Given the description of an element on the screen output the (x, y) to click on. 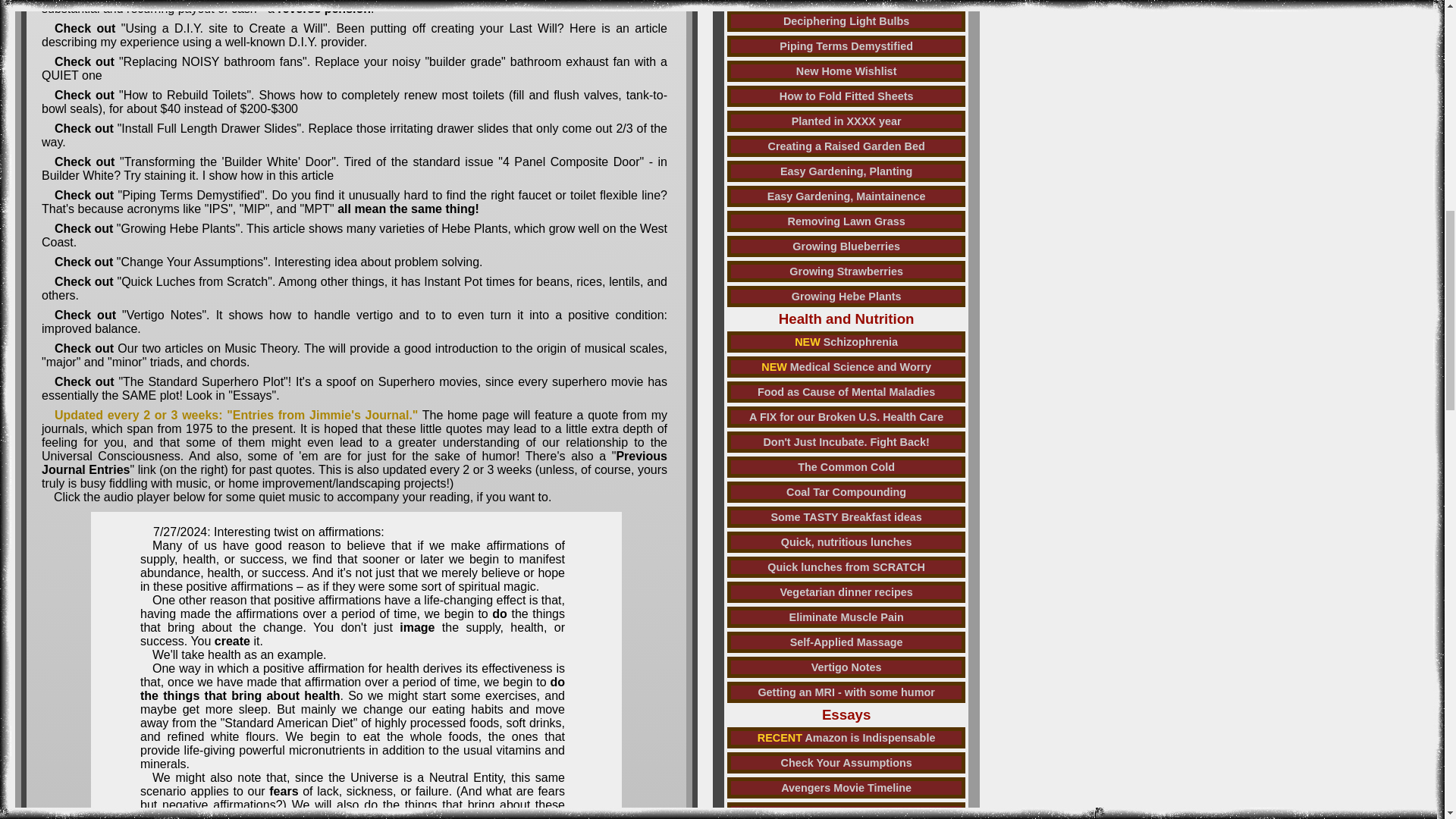
How to Fold Fitted Sheets (845, 96)
Deciphering Light Bulbs (845, 20)
Planted in XXXX year (845, 120)
Easy Gardening, Maintainence (845, 196)
Growing Hebe Plants (845, 296)
Growing Blueberries (845, 246)
Creating a Raised Garden Bed (845, 146)
Easy Gardening, Planting (845, 170)
Best Tip for Travel Packing (845, 3)
Piping Terms Demystified (845, 46)
Removing Lawn Grass (845, 220)
New Home Wishlist (845, 70)
Growing Strawberries (845, 271)
